Given the description of an element on the screen output the (x, y) to click on. 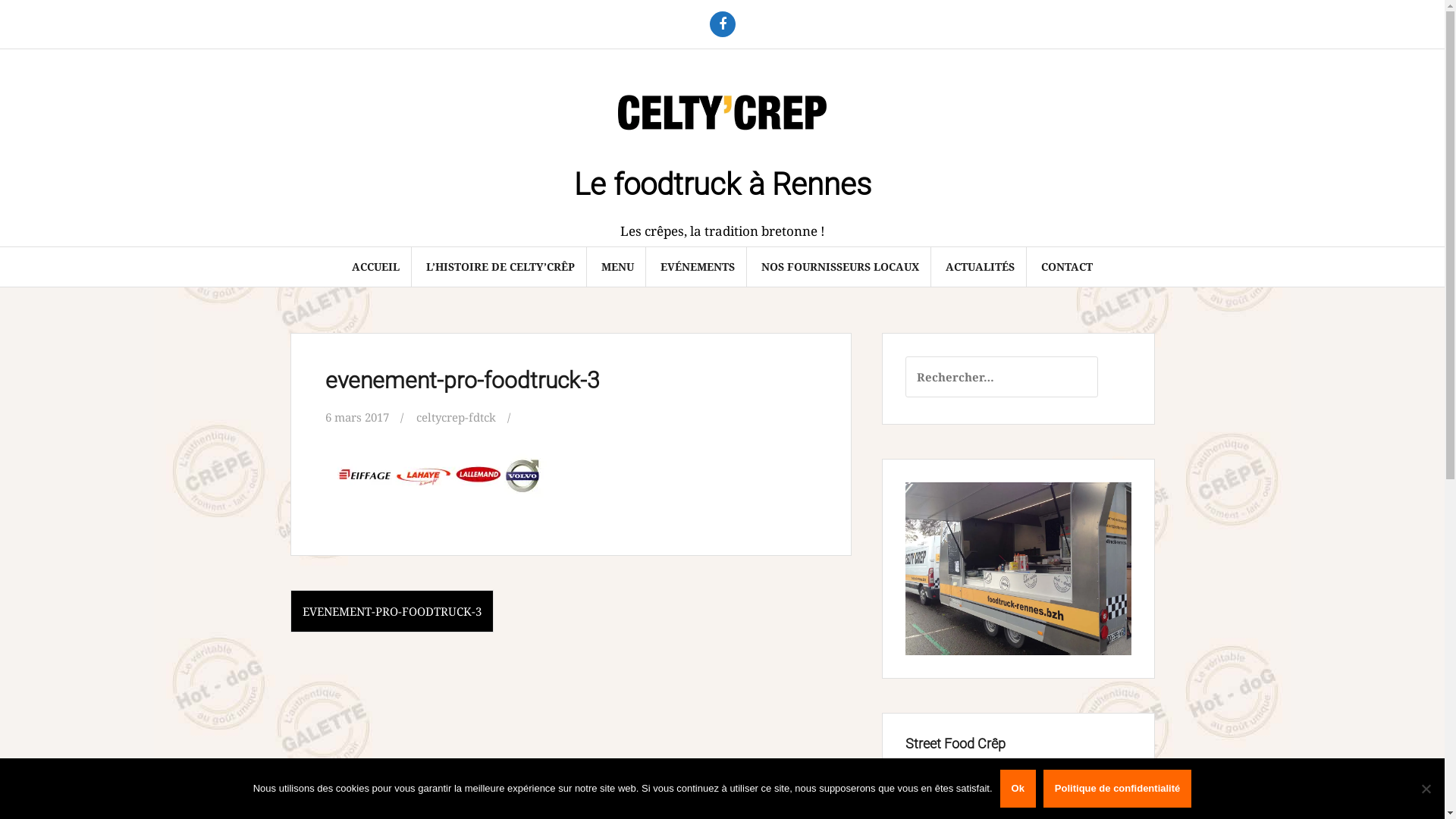
Non Element type: hover (1425, 788)
NOS FOURNISSEURS LOCAUX Element type: text (840, 266)
Rejoignez nous sur Facebook Element type: text (722, 23)
celtycrep-fdtck Element type: text (455, 416)
6 mars 2017 Element type: text (356, 416)
Ok Element type: text (1017, 788)
MENU Element type: text (617, 266)
ACCUEIL Element type: text (375, 266)
EVENEMENT-PRO-FOODTRUCK-3 Element type: text (390, 610)
CONTACT Element type: text (1066, 266)
Rechercher Element type: text (45, 20)
